Given the description of an element on the screen output the (x, y) to click on. 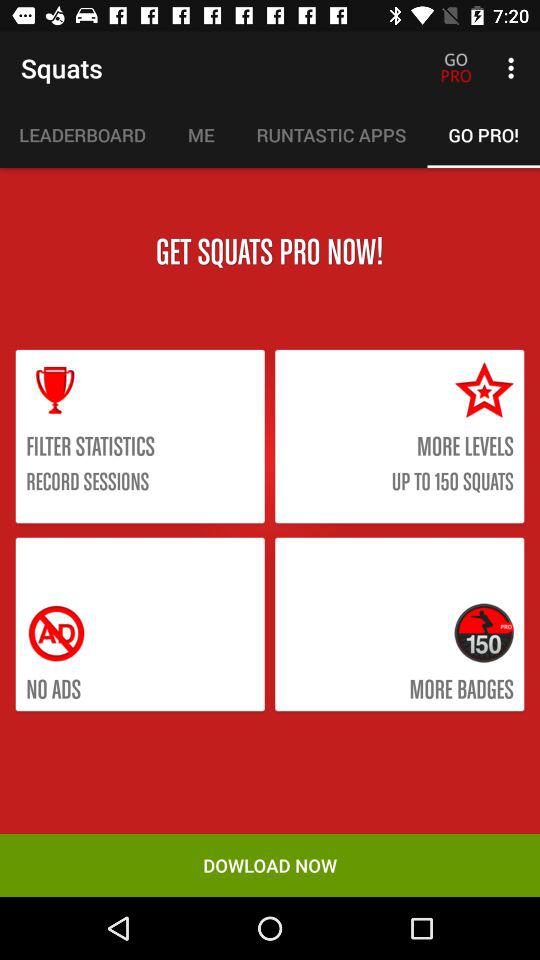
turn off icon next to the runtastic apps (200, 135)
